Given the description of an element on the screen output the (x, y) to click on. 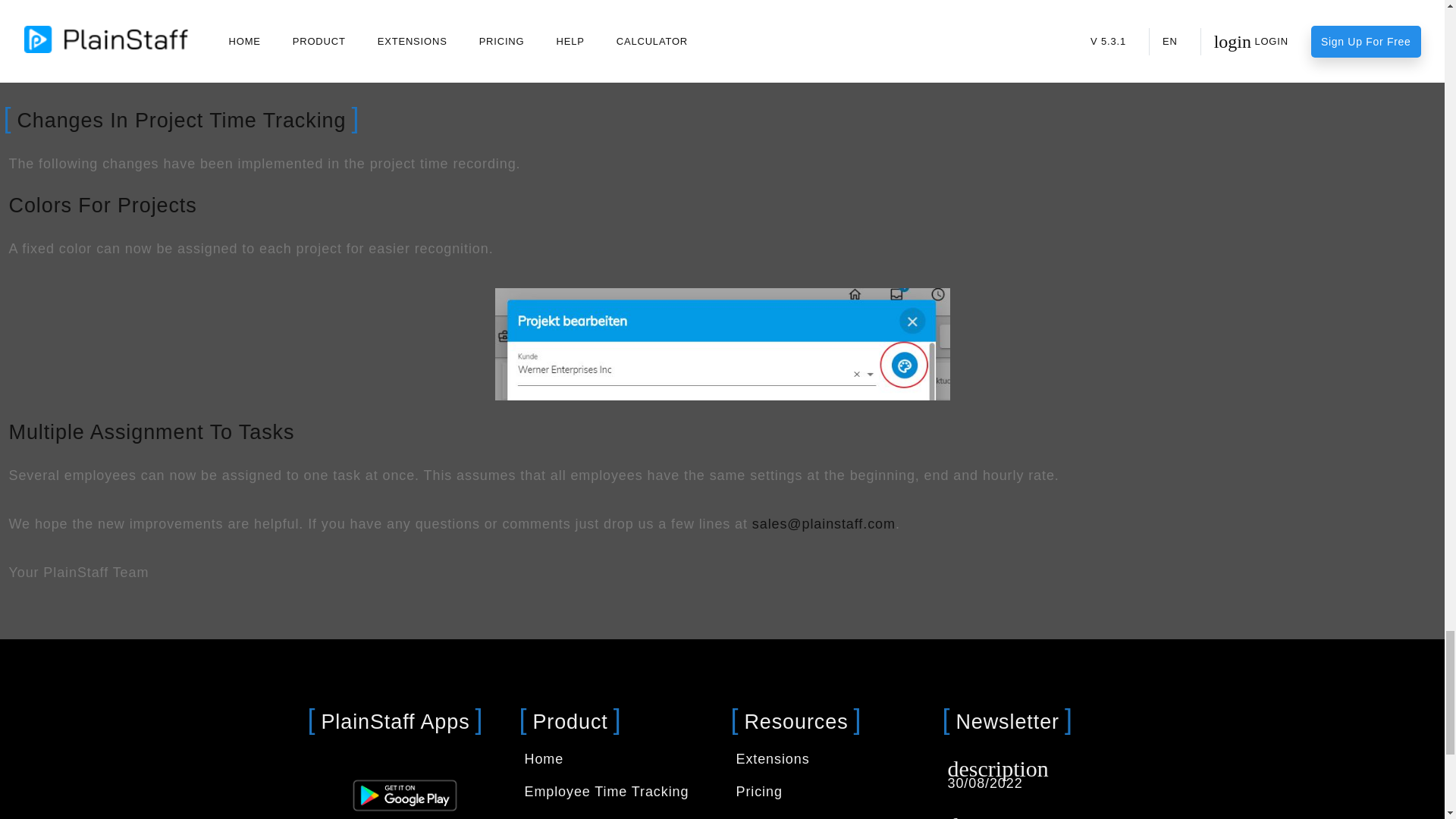
Help (751, 817)
Pricing (758, 791)
Project Time Tracking (596, 817)
Home (544, 758)
Extensions (772, 758)
Employee Time Tracking (606, 791)
